Given the description of an element on the screen output the (x, y) to click on. 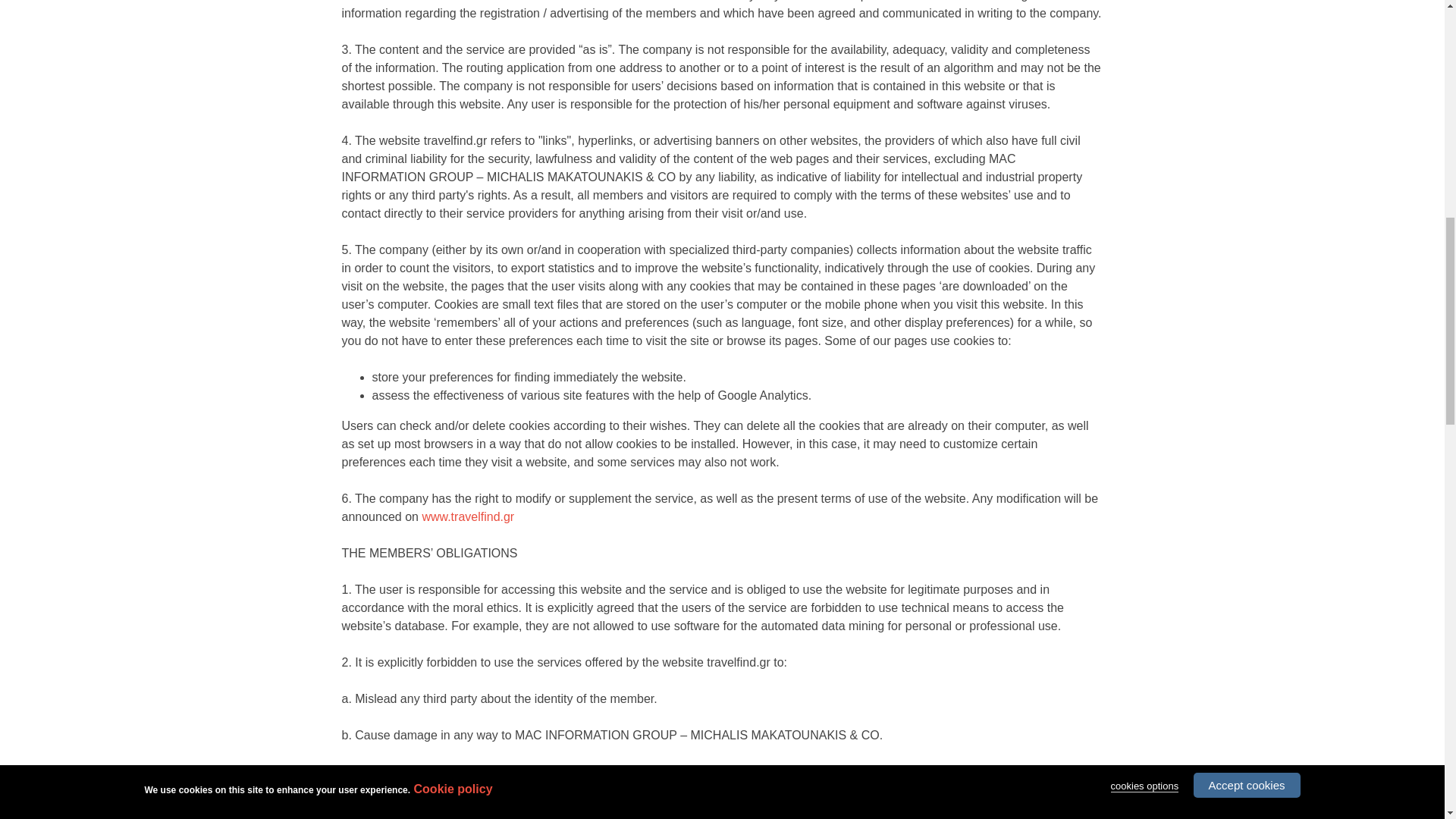
www.travelfind.gr (467, 516)
